Given the description of an element on the screen output the (x, y) to click on. 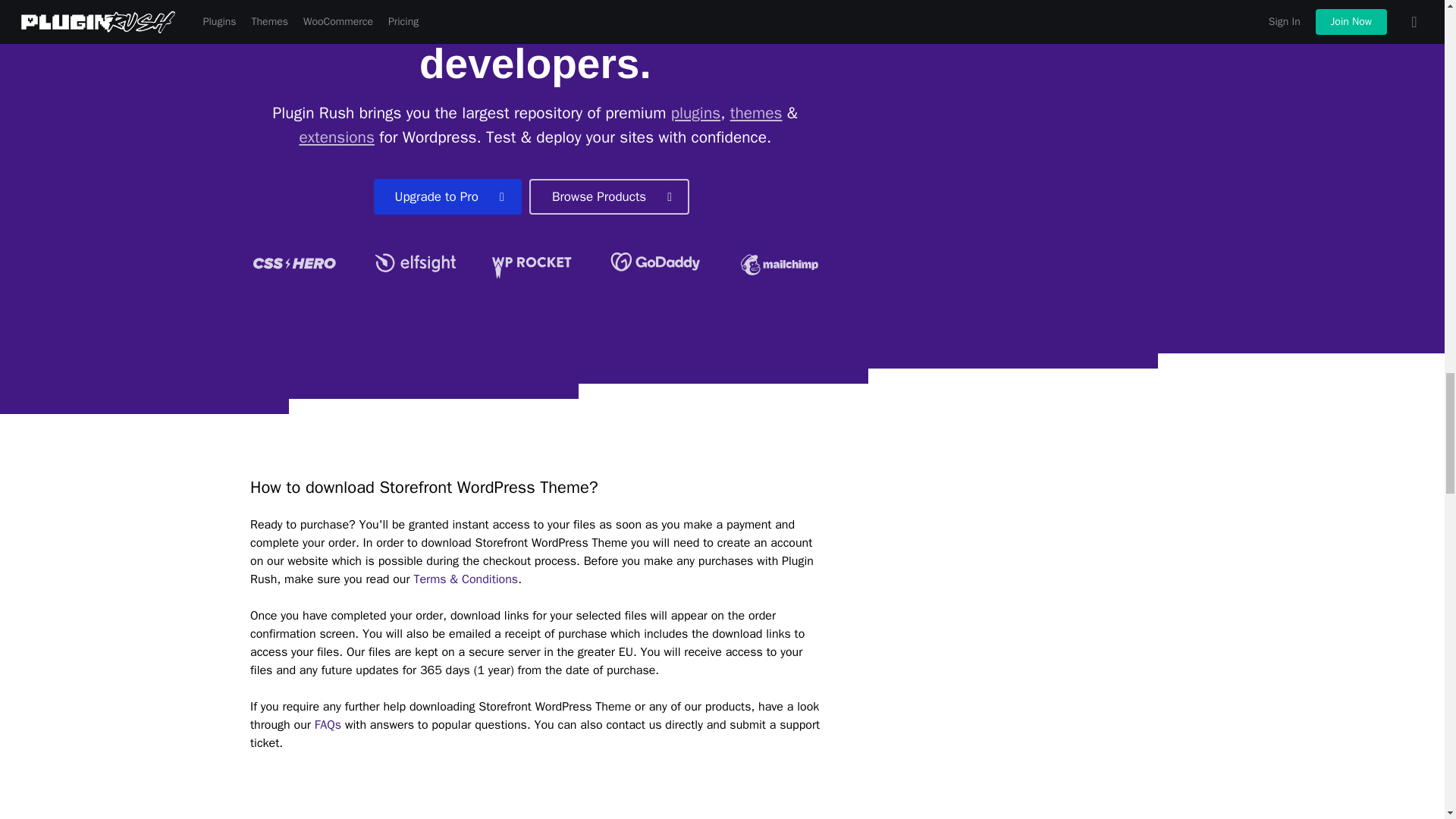
extensions (336, 137)
Upgrade to Pro (447, 196)
themes (756, 112)
plugins (695, 112)
Browse Products (608, 196)
FAQs (327, 724)
